Given the description of an element on the screen output the (x, y) to click on. 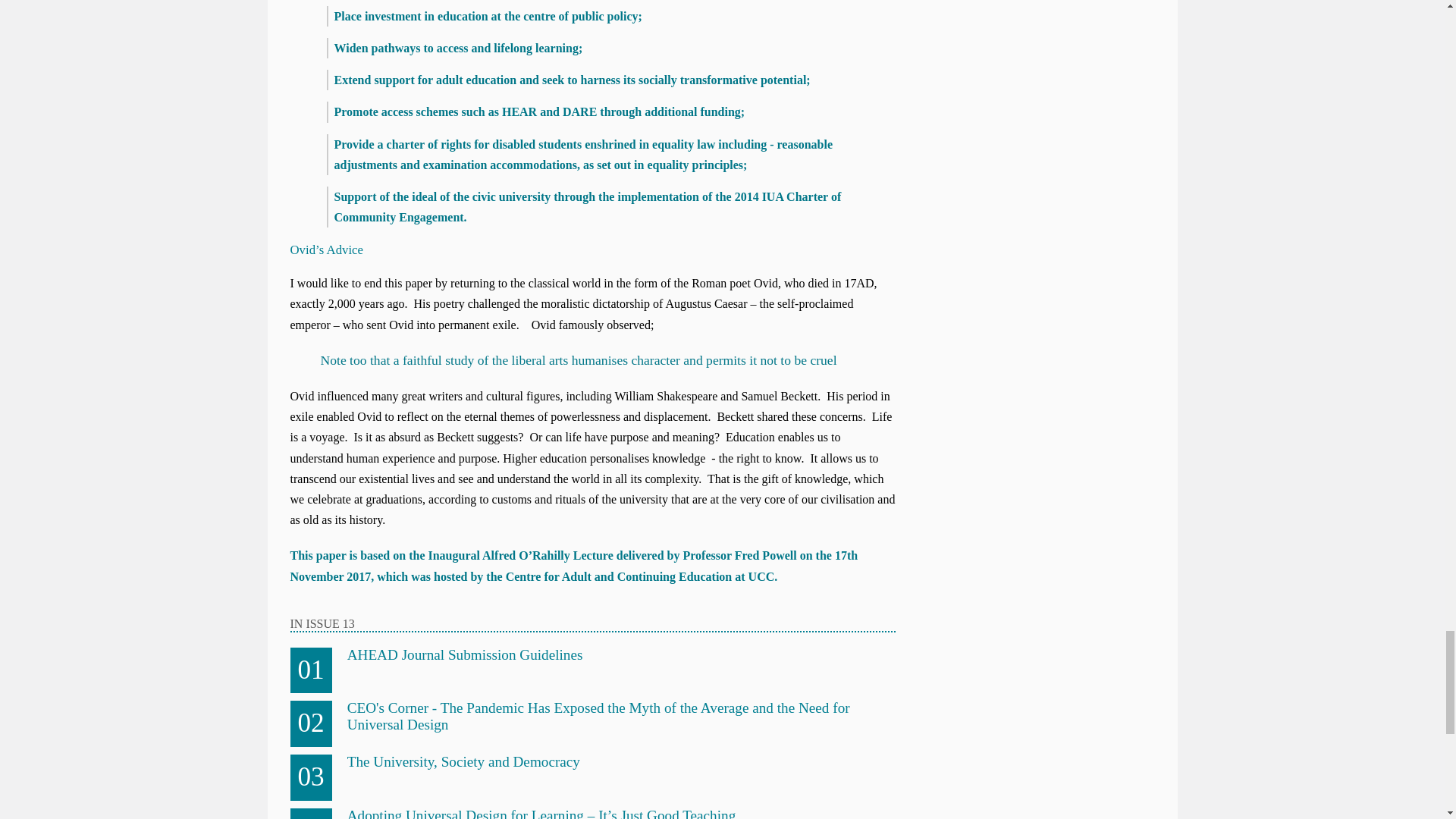
AHEAD Journal Submission Guidelines (465, 654)
The University, Society and Democracy (463, 761)
